Given the description of an element on the screen output the (x, y) to click on. 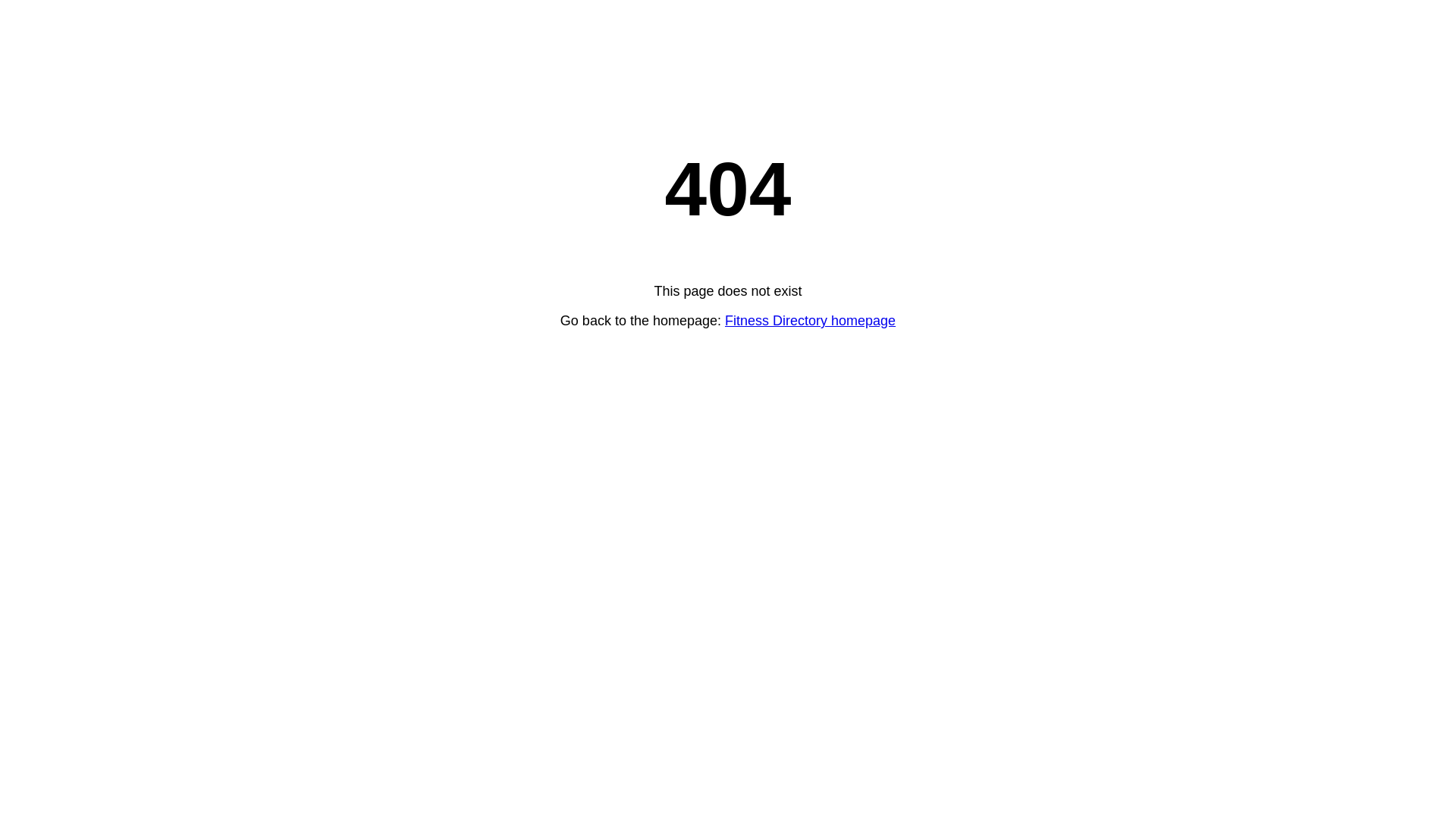
Fitness Directory homepage Element type: text (809, 320)
